Given the description of an element on the screen output the (x, y) to click on. 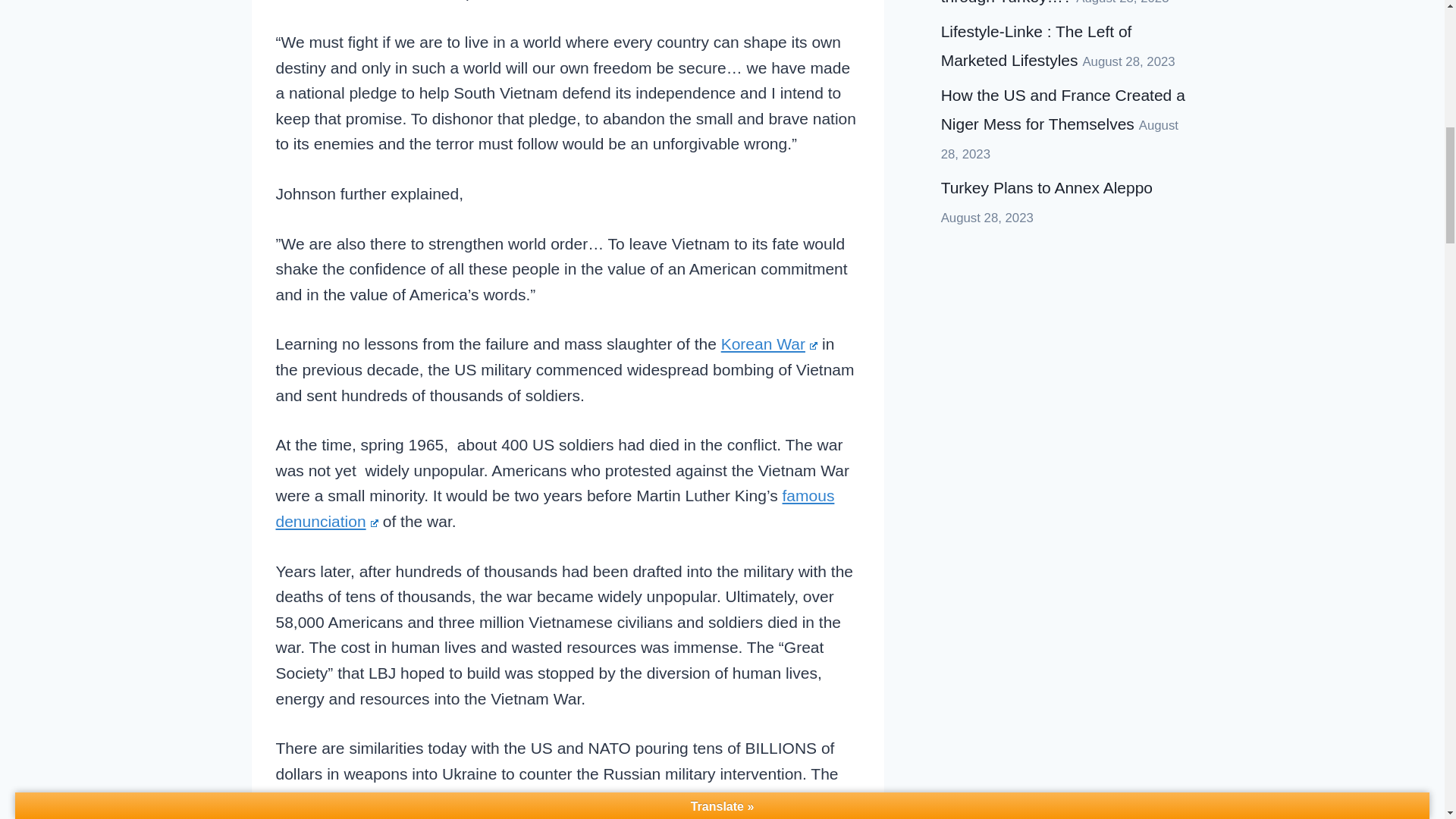
famous denunciation (555, 507)
Korean War (769, 343)
